Given the description of an element on the screen output the (x, y) to click on. 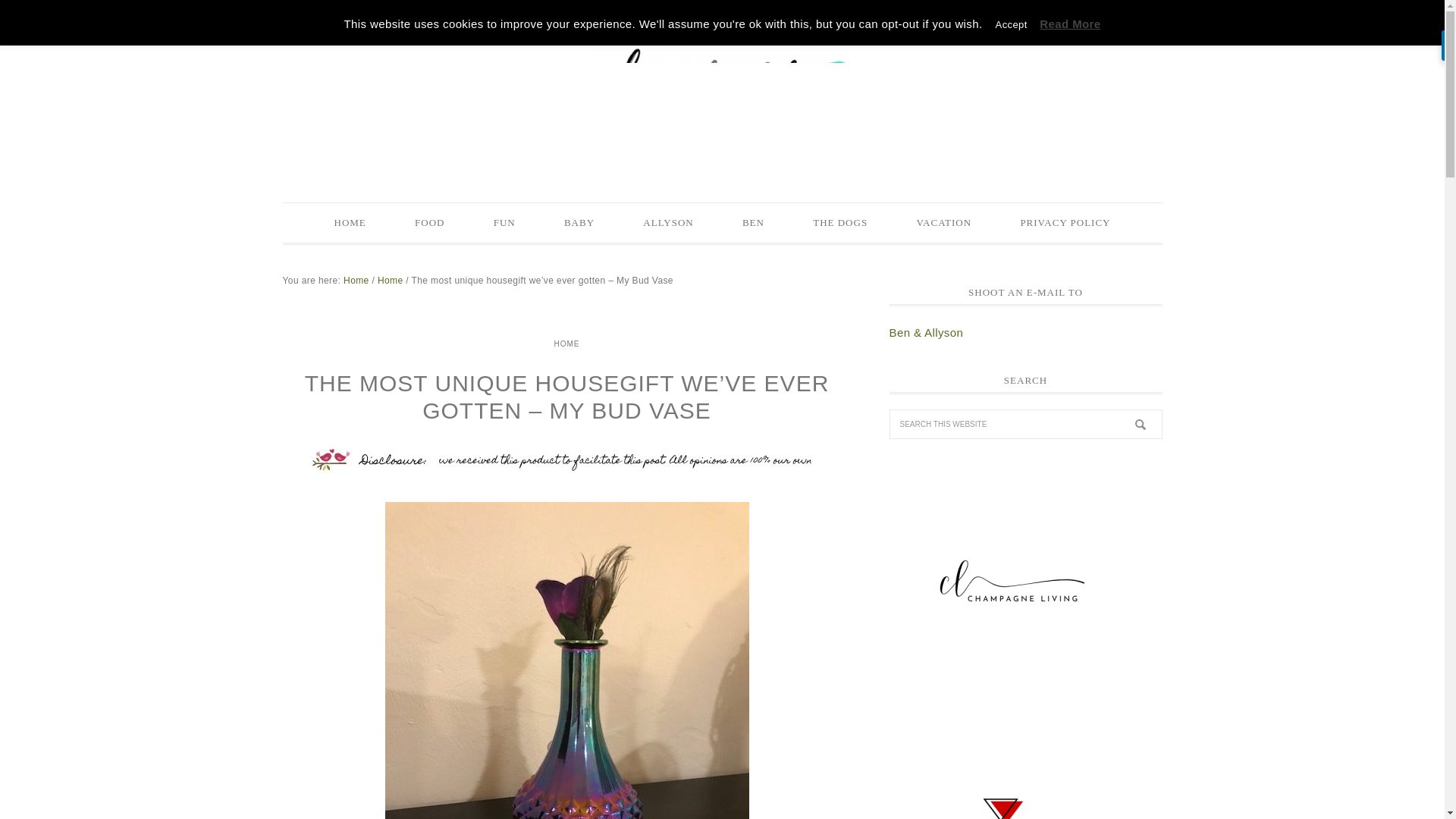
PRIVACY POLICY (1064, 222)
VACATION (943, 222)
Home (390, 279)
Home (356, 279)
ALLYSON (668, 222)
HOME (566, 342)
BEN (753, 222)
Read More (1069, 23)
HOME (349, 222)
